Given the description of an element on the screen output the (x, y) to click on. 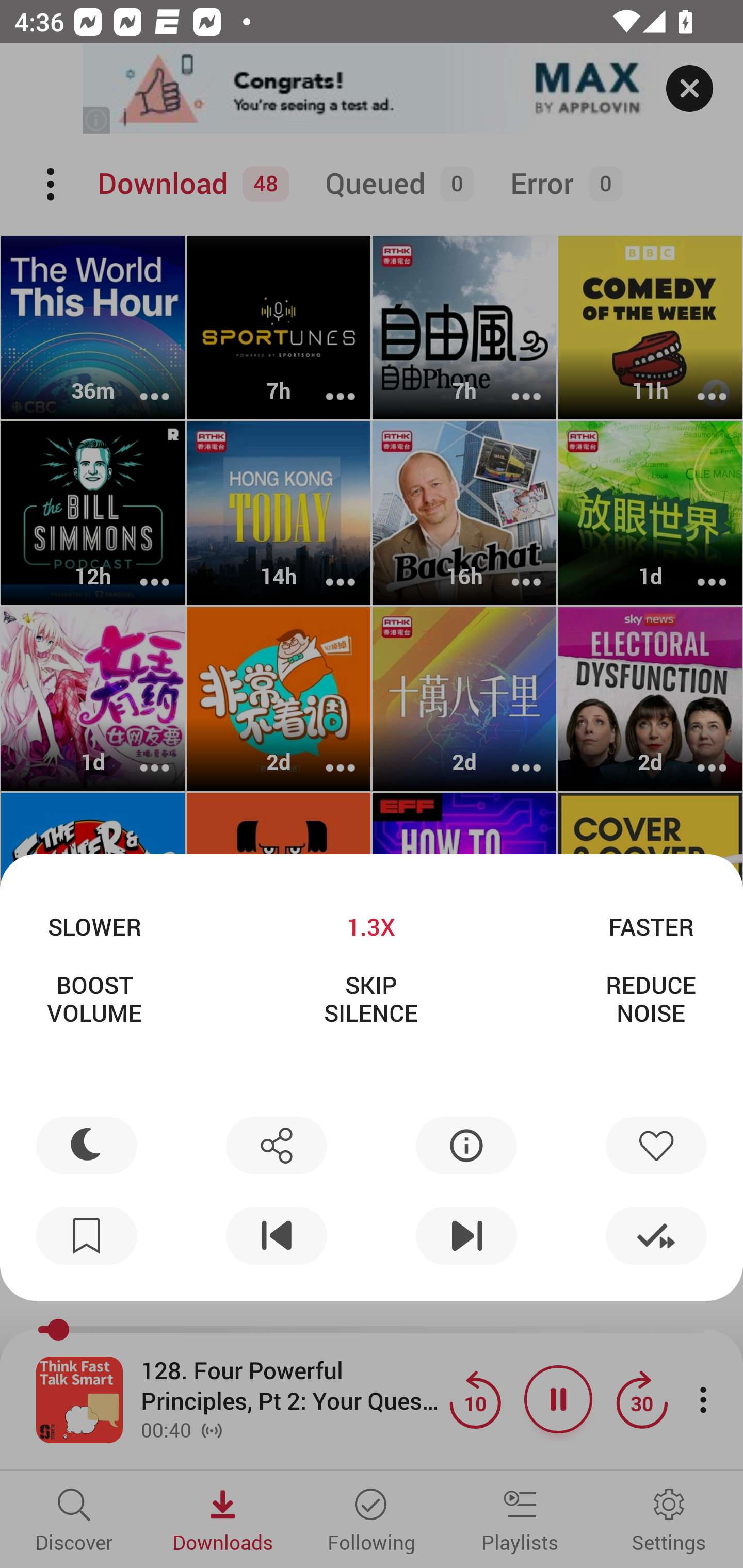
SLOWER (94, 926)
1.3X (370, 926)
FASTER (650, 926)
BOOST
VOLUME (94, 998)
SKIP
SILENCE (370, 998)
REDUCE
NOISE (650, 998)
Sleep timer (86, 1145)
Share (275, 1145)
Info (466, 1145)
Like (655, 1145)
New bookmark … (86, 1236)
Previous (275, 1236)
Next (466, 1236)
Mark played and next (655, 1236)
